Given the description of an element on the screen output the (x, y) to click on. 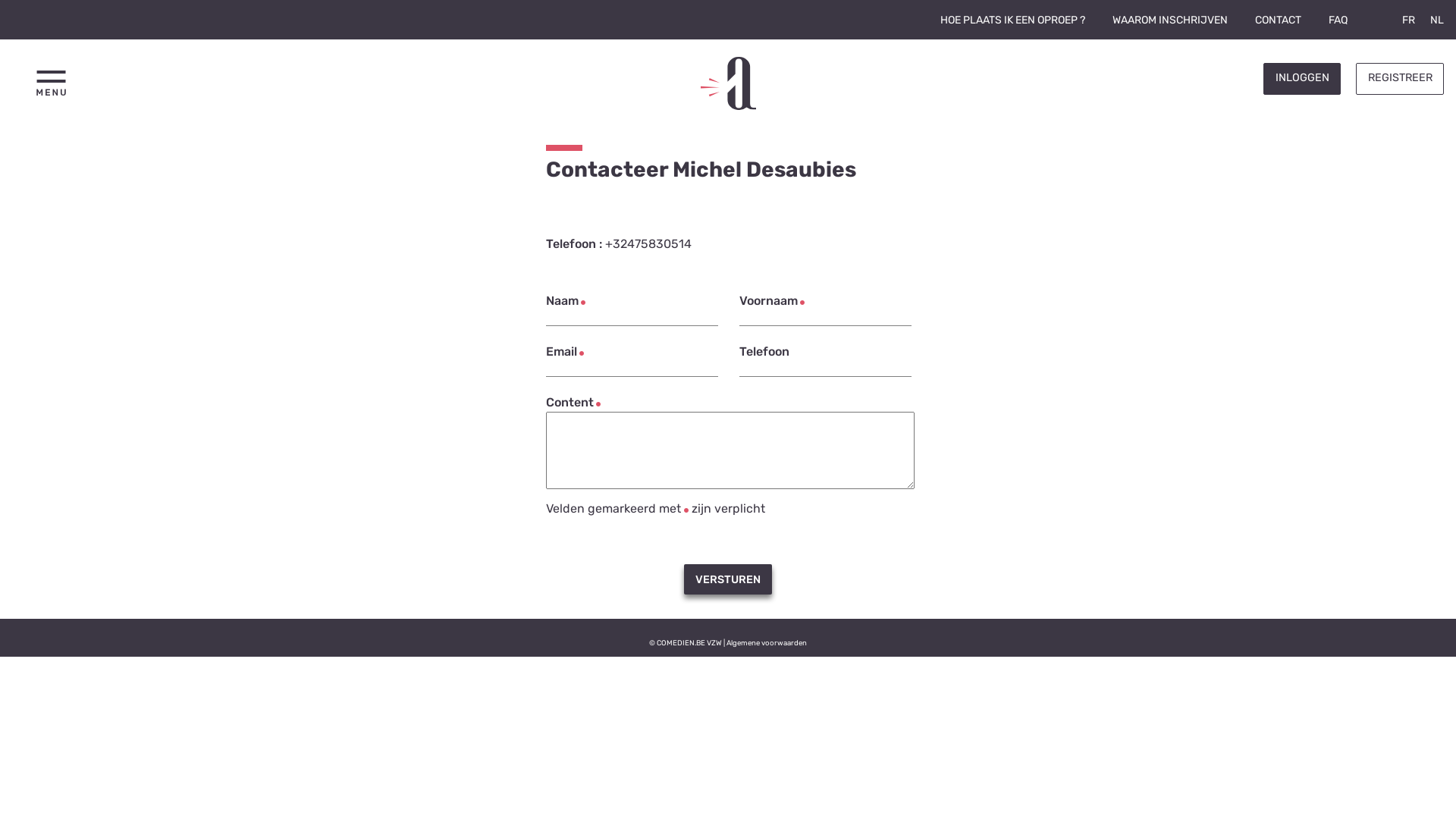
REGISTREER Element type: text (1399, 78)
Algemene voorwaarden Element type: text (766, 642)
FAQ Element type: text (1337, 19)
WAAROM INSCHRIJVEN Element type: text (1169, 19)
INLOGGEN Element type: text (1301, 78)
VERSTUREN Element type: text (728, 579)
CONTACT Element type: text (1278, 19)
NL Element type: text (1436, 19)
HOE PLAATS IK EEN OPROEP ? Element type: text (1012, 19)
FR Element type: text (1408, 19)
